Given the description of an element on the screen output the (x, y) to click on. 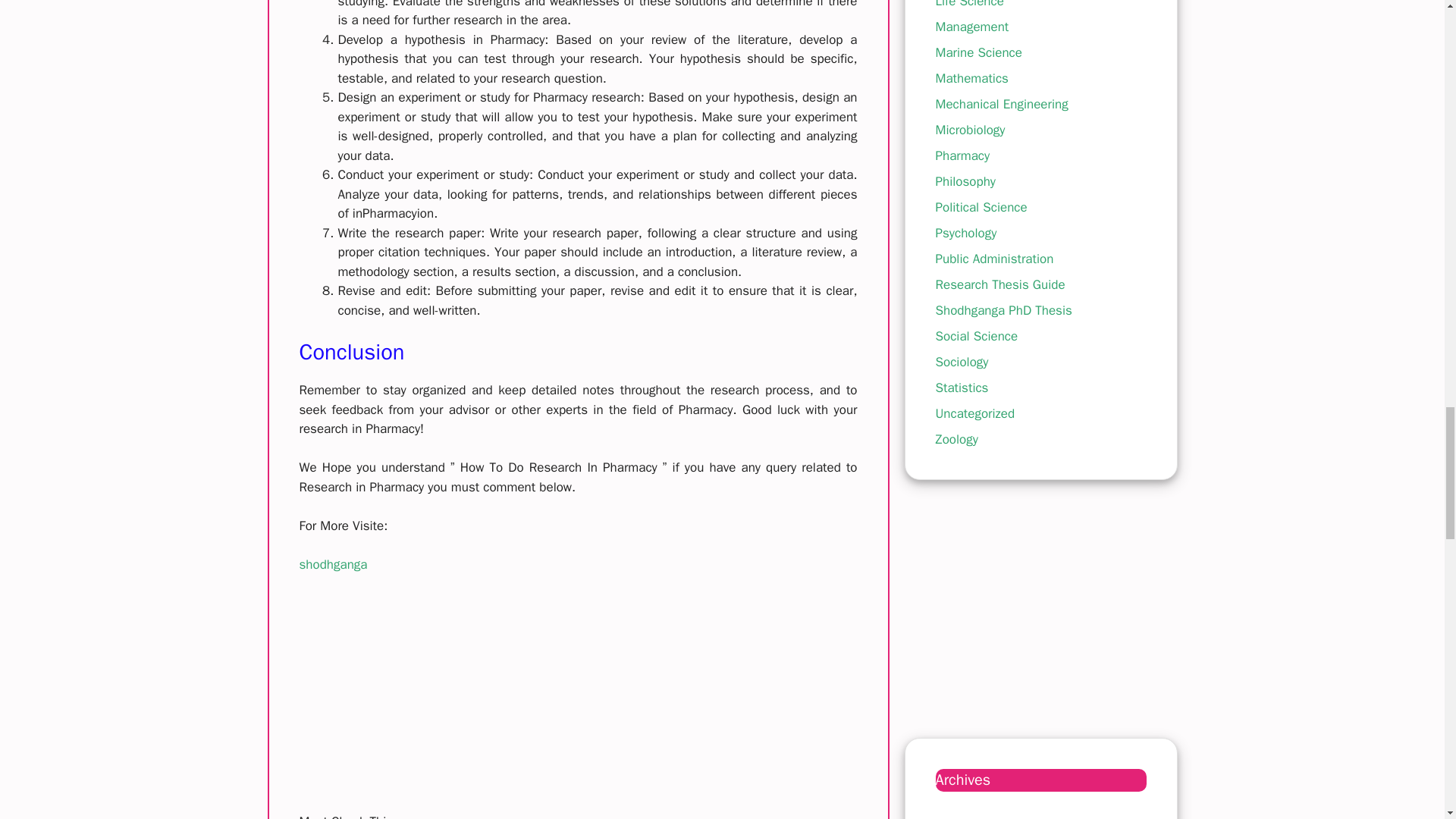
shodhganga (332, 564)
